Given the description of an element on the screen output the (x, y) to click on. 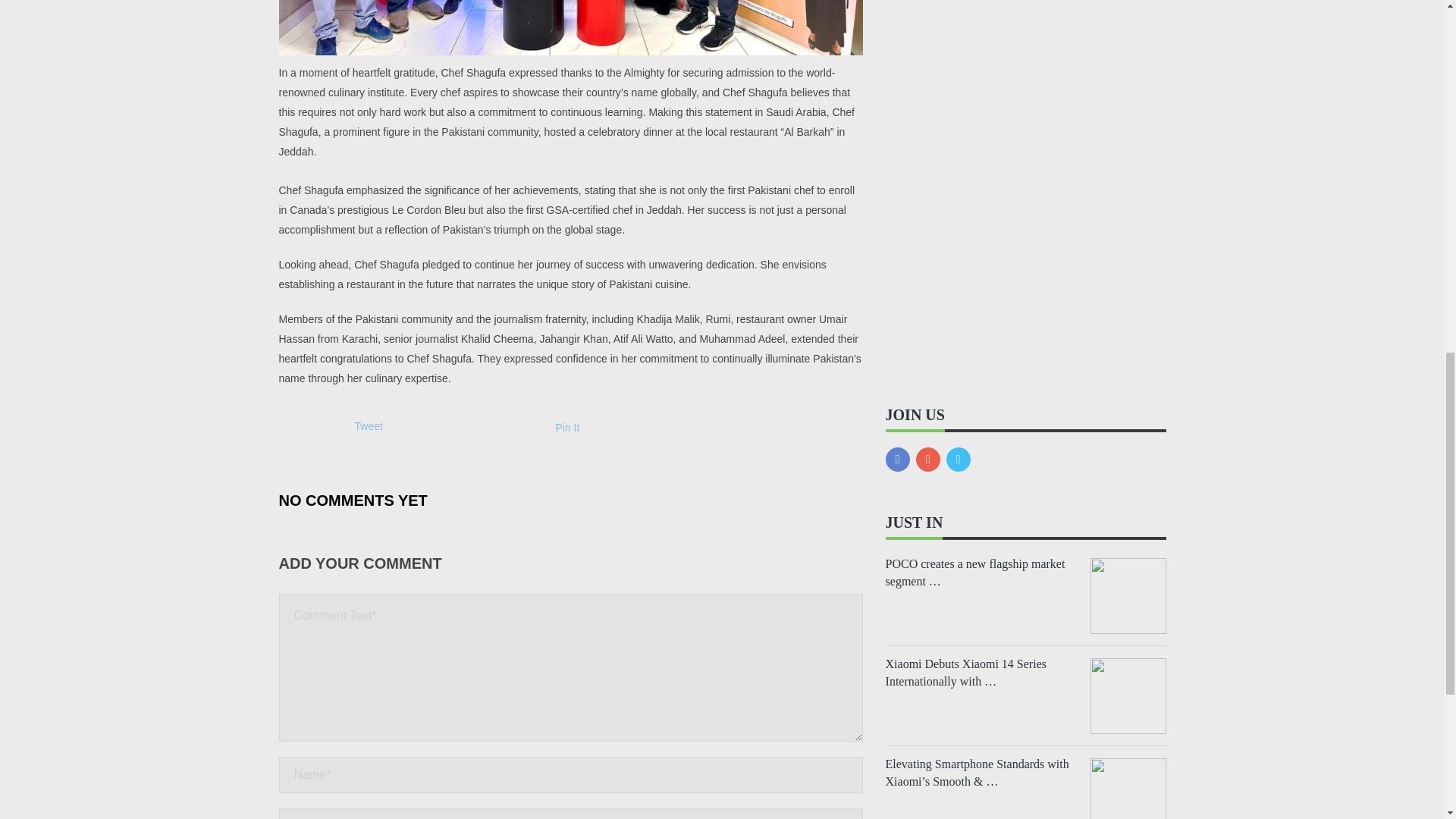
Tweet (368, 426)
NO COMMENTS YET (353, 498)
Pin It (566, 427)
